Given the description of an element on the screen output the (x, y) to click on. 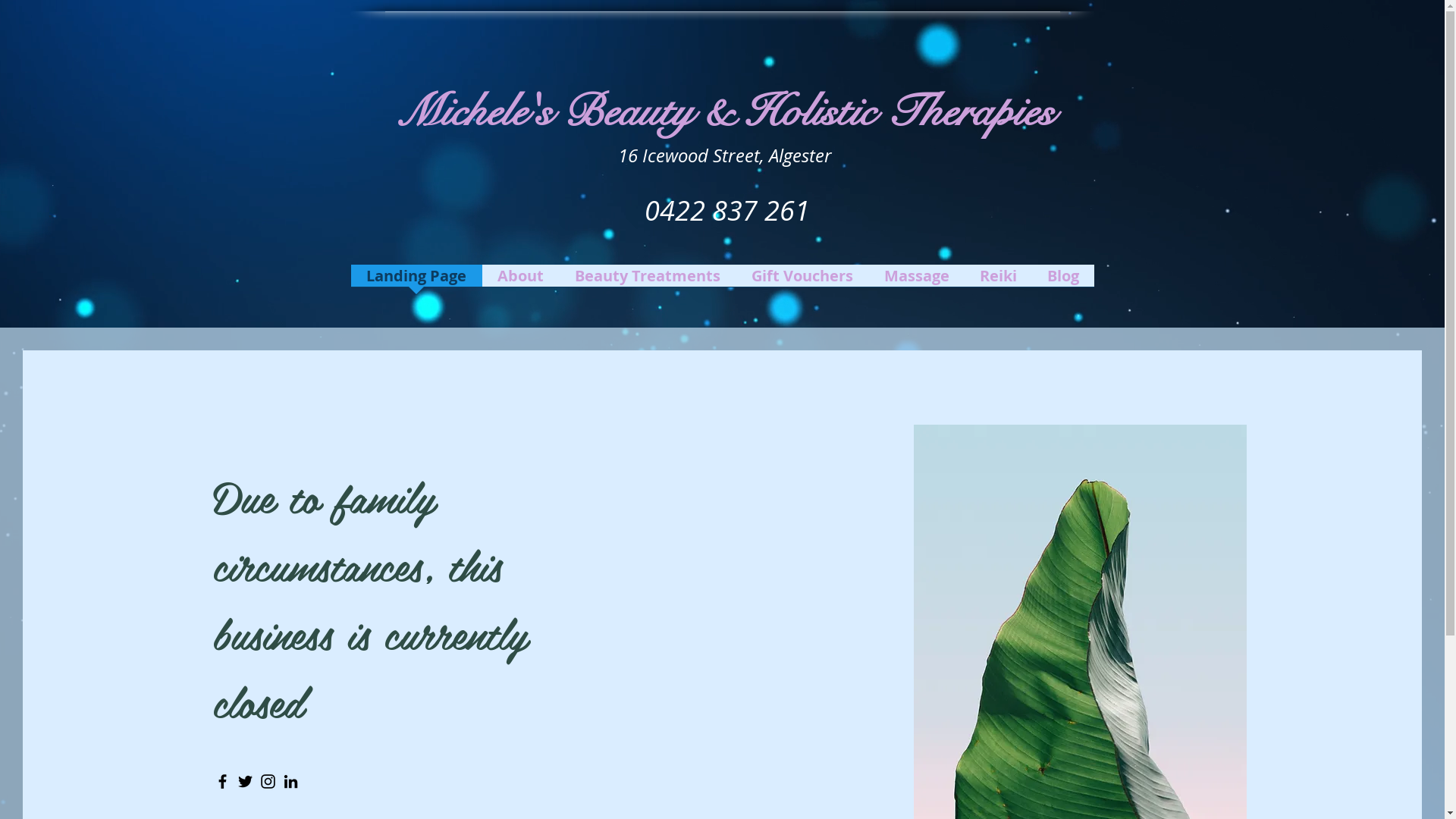
Landing Page Element type: text (415, 280)
Reiki Element type: text (998, 280)
Blog Element type: text (1062, 280)
About Element type: text (520, 280)
Massage Element type: text (916, 280)
Beauty Treatments Element type: text (647, 280)
Gift Vouchers Element type: text (801, 280)
